Given the description of an element on the screen output the (x, y) to click on. 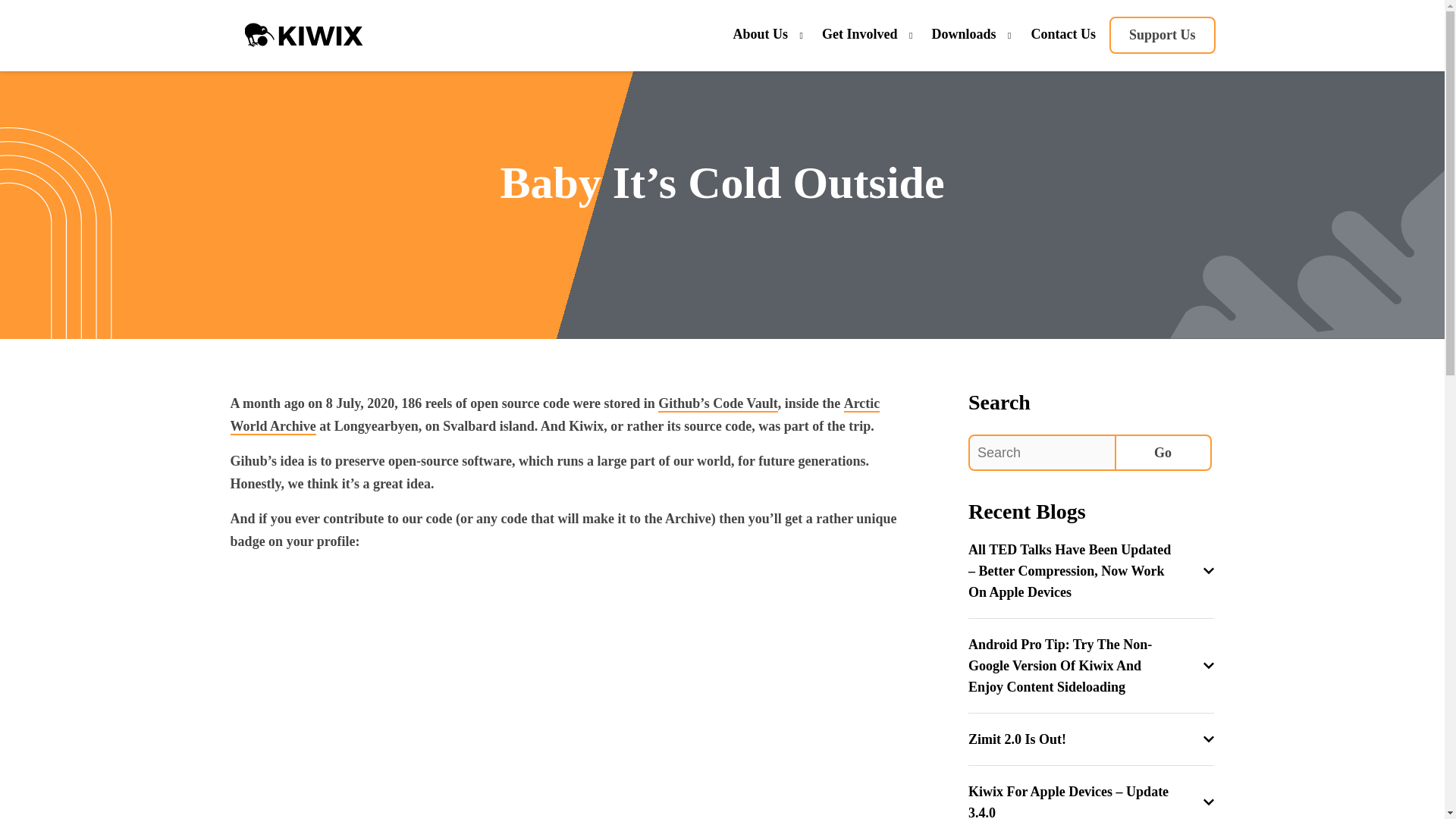
Arctic World Archive (555, 414)
Go (1163, 452)
Kiwix (302, 35)
Support Us (1162, 35)
Downloads (963, 35)
Go (1163, 452)
Get Involved (860, 35)
About Us (759, 35)
Support Us (1162, 35)
Contact Us (1063, 35)
